Given the description of an element on the screen output the (x, y) to click on. 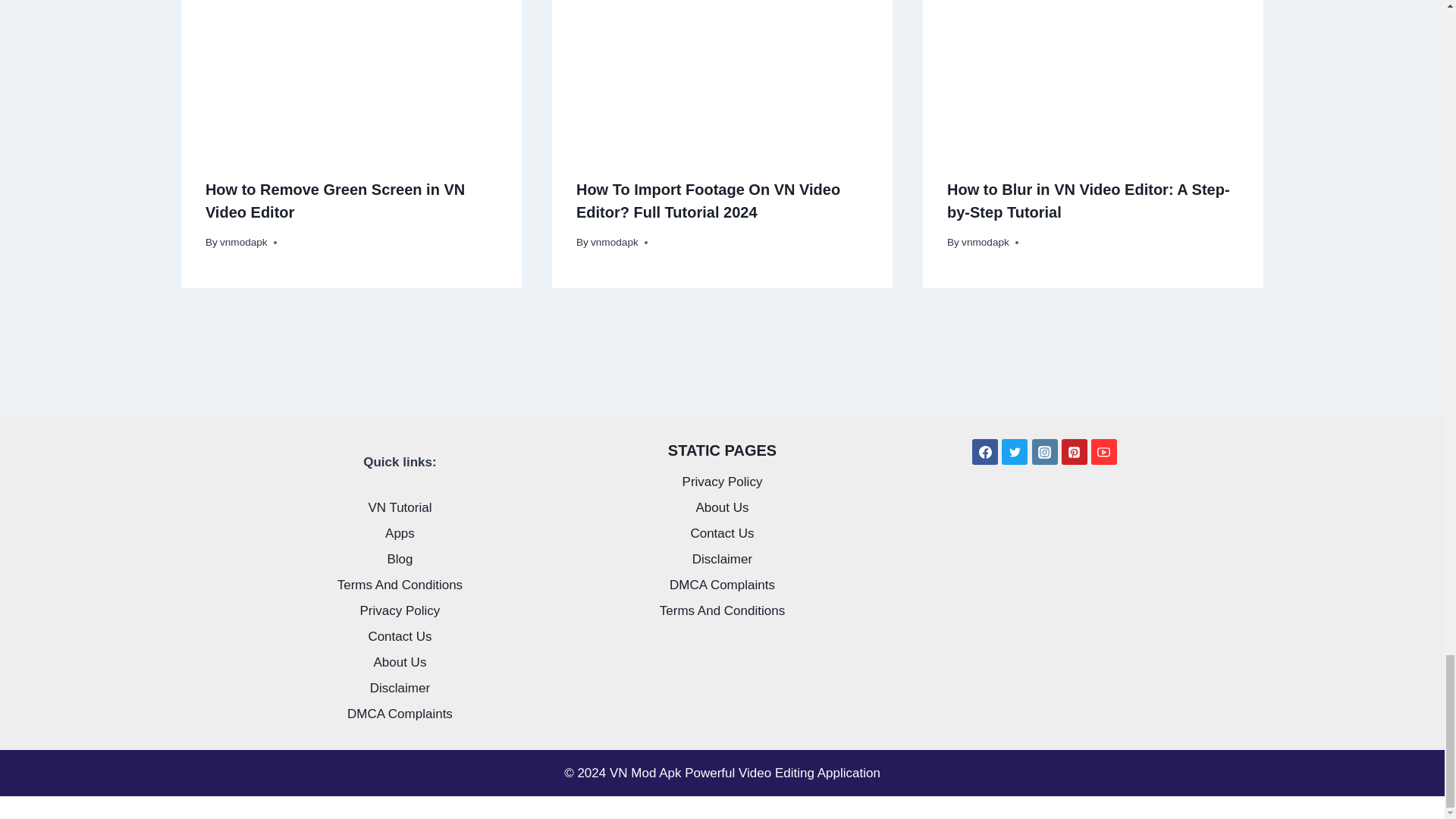
How to Remove Green Screen in VN Video Editor (334, 200)
vnmodapk (243, 242)
